Given the description of an element on the screen output the (x, y) to click on. 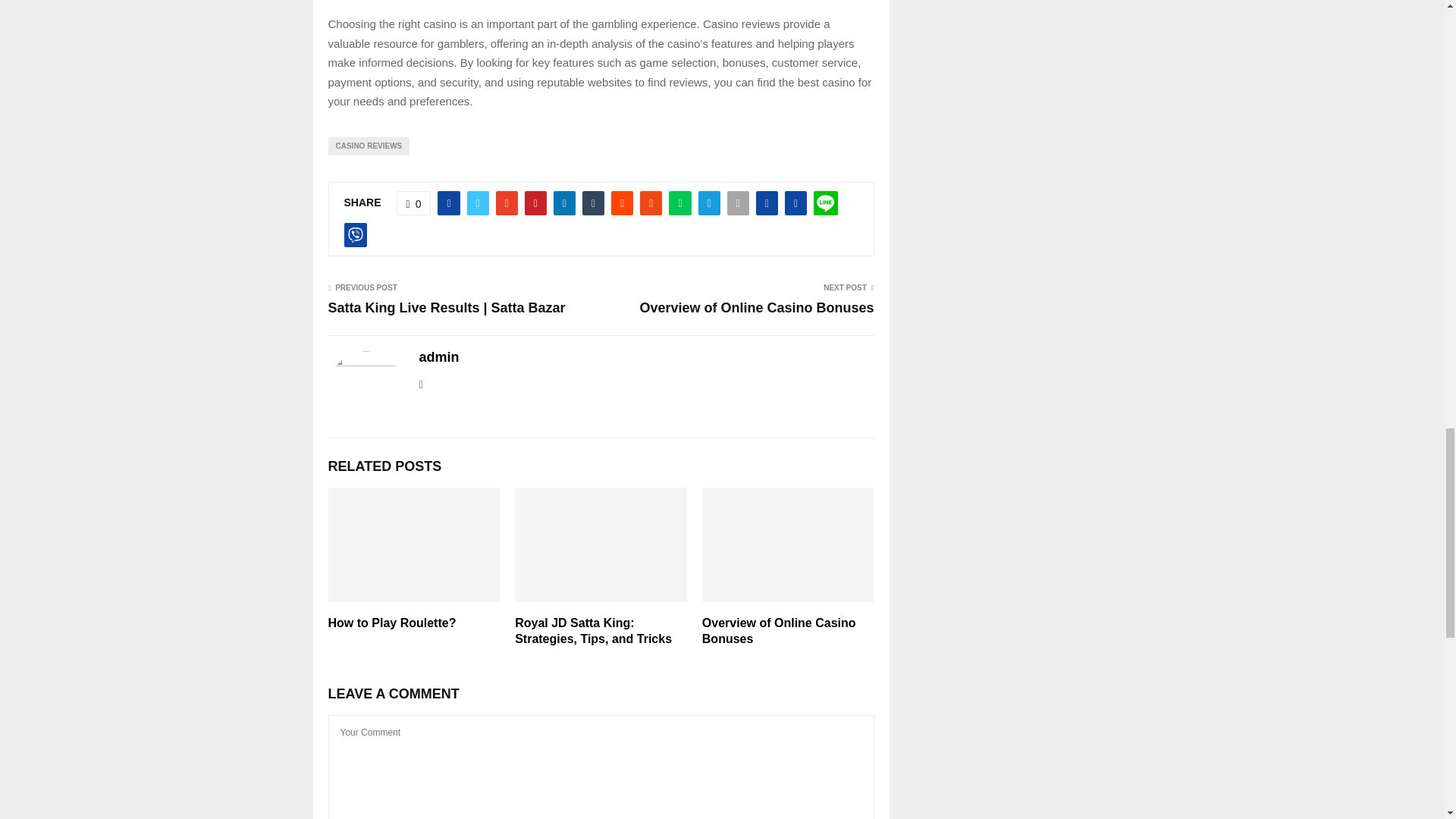
Like (413, 202)
